Given the description of an element on the screen output the (x, y) to click on. 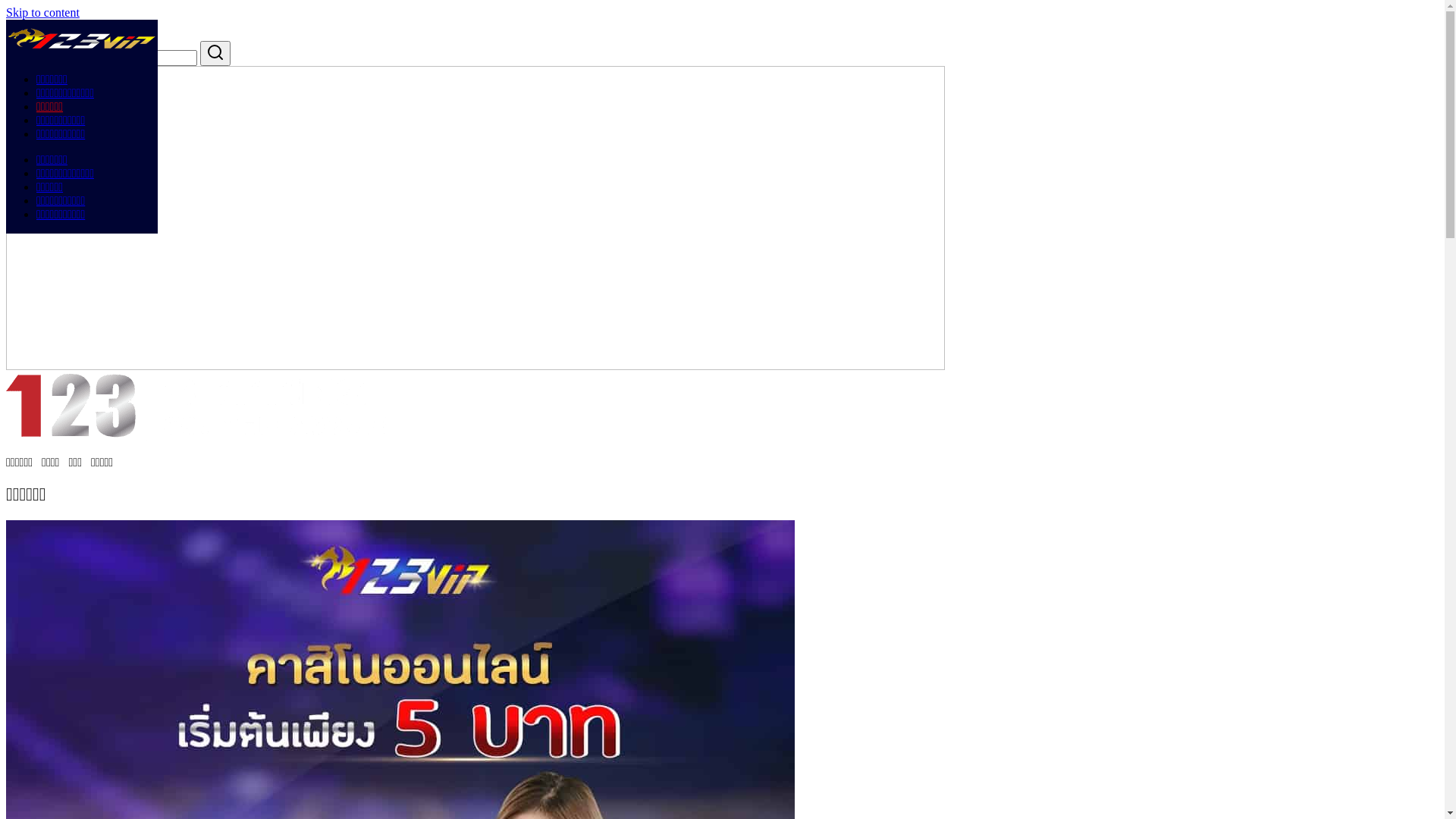
Skip to content Element type: text (42, 12)
